Given the description of an element on the screen output the (x, y) to click on. 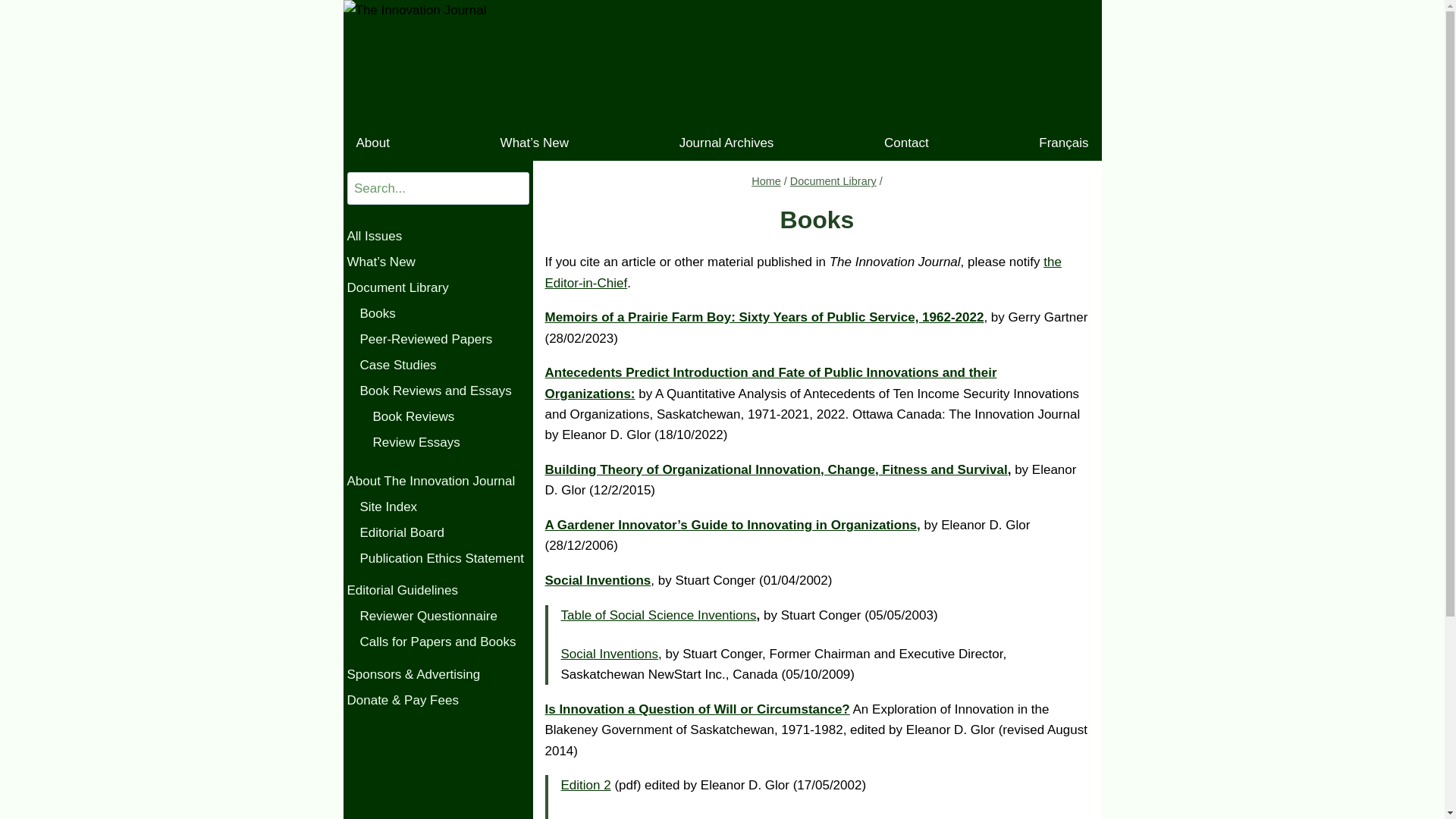
Books Element type: text (443, 313)
About Element type: text (371, 142)
Home Element type: text (766, 181)
Book Reviews and Essays Element type: text (443, 391)
Contact Element type: text (906, 142)
Reviewer Questionnaire Element type: text (443, 616)
Journal Archives Element type: text (726, 142)
Sponsors & Advertising Element type: text (438, 674)
Is Innovation a Question of Will or Circumstance? Element type: text (696, 709)
About The Innovation Journal Element type: text (438, 481)
Edition 2 Element type: text (586, 785)
Review Essays Element type: text (451, 442)
Editorial Board Element type: text (443, 533)
Publication Ethics Statement Element type: text (443, 558)
Editorial Guidelines Element type: text (438, 590)
Document Library Element type: text (438, 288)
Donate & Pay Fees Element type: text (438, 700)
Document Library Element type: text (833, 181)
Social Inventions Element type: text (609, 653)
Book Reviews Element type: text (451, 416)
Site Index Element type: text (443, 507)
Social Inventions Element type: text (597, 580)
Calls for Papers and Books Element type: text (443, 642)
Table of Social Science Inventions Element type: text (658, 615)
the Editor-in-Chief Element type: text (802, 271)
Peer-Reviewed Papers Element type: text (443, 339)
Case Studies Element type: text (443, 365)
All Issues Element type: text (438, 236)
